Given the description of an element on the screen output the (x, y) to click on. 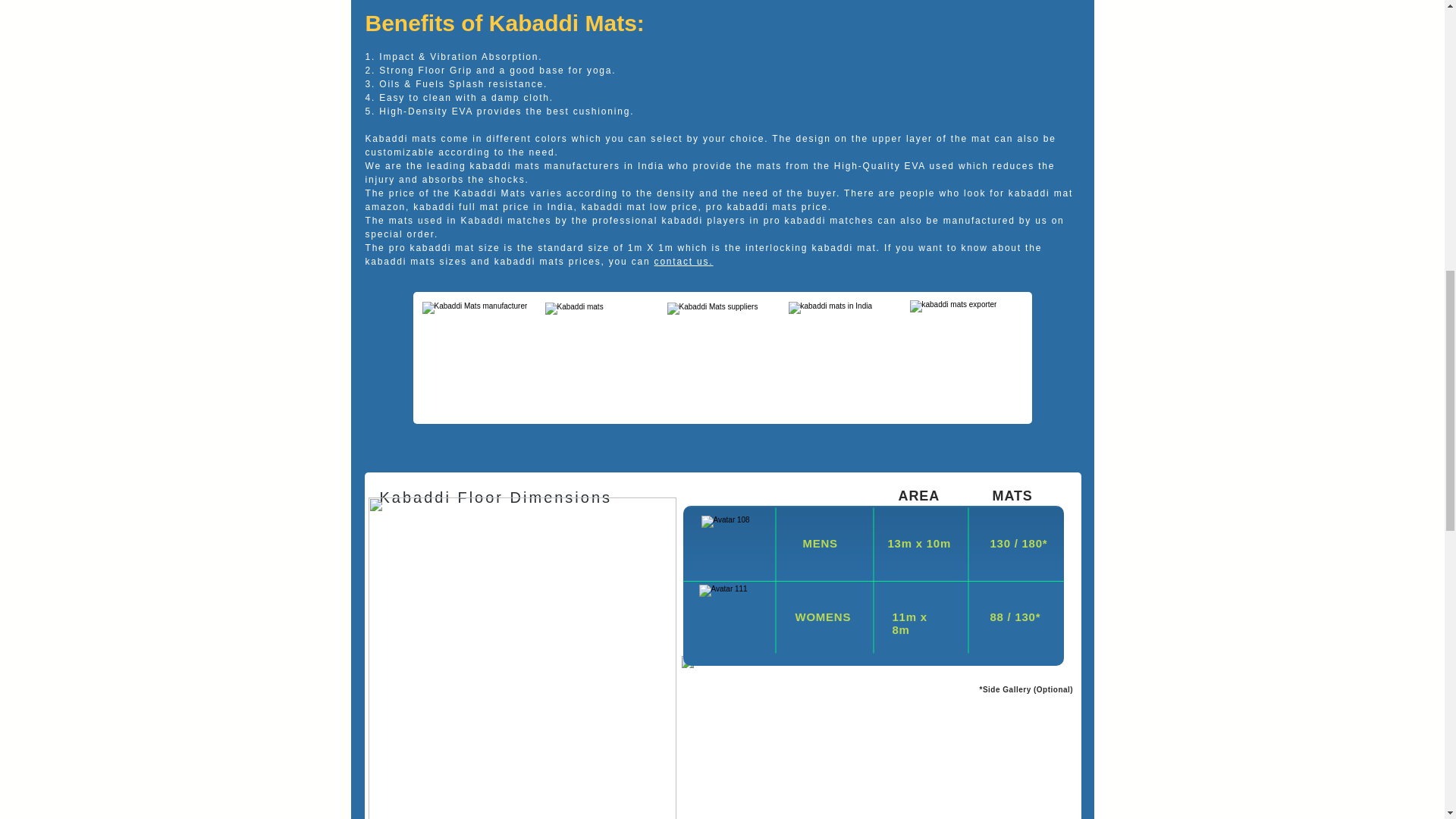
contact us. (683, 261)
Kabaddi Court.png (522, 658)
